Given the description of an element on the screen output the (x, y) to click on. 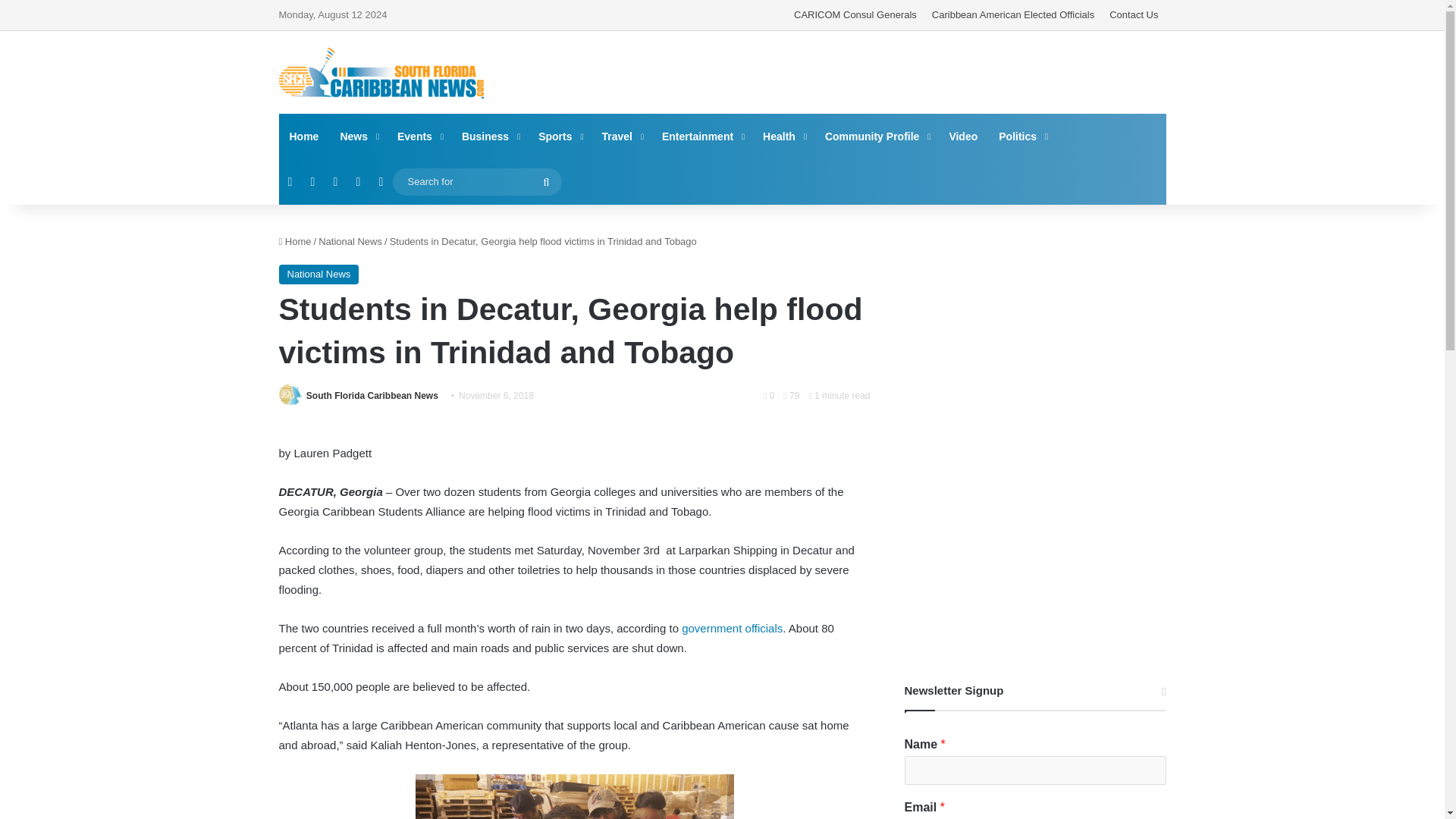
National News (319, 274)
3rd party ad content (873, 70)
Home (295, 241)
National News (349, 241)
South Florida Caribbean News (371, 395)
South Florida Caribbean News (381, 72)
Entertainment (701, 135)
News (358, 135)
Video (962, 135)
South Florida Caribbean News (371, 395)
